Given the description of an element on the screen output the (x, y) to click on. 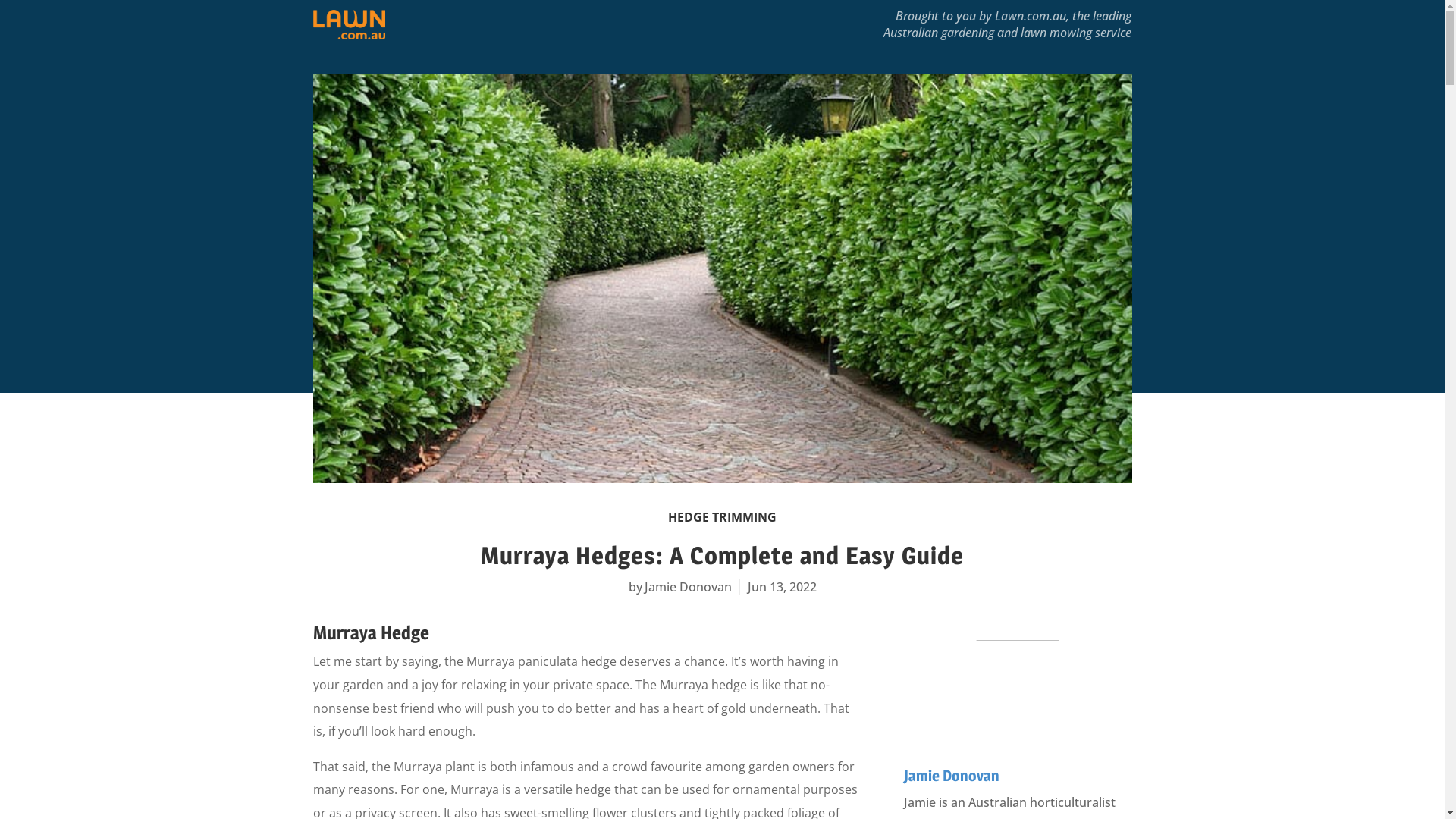
Murraya Heges Guide Element type: hover (721, 278)
HEDGE TRIMMING Element type: text (722, 517)
Jamie Donovan Element type: text (951, 775)
lawn-com-au-logo Element type: hover (348, 24)
Lawn.com.au Element type: text (1030, 15)
Jamie Donovan Element type: text (687, 586)
